Given the description of an element on the screen output the (x, y) to click on. 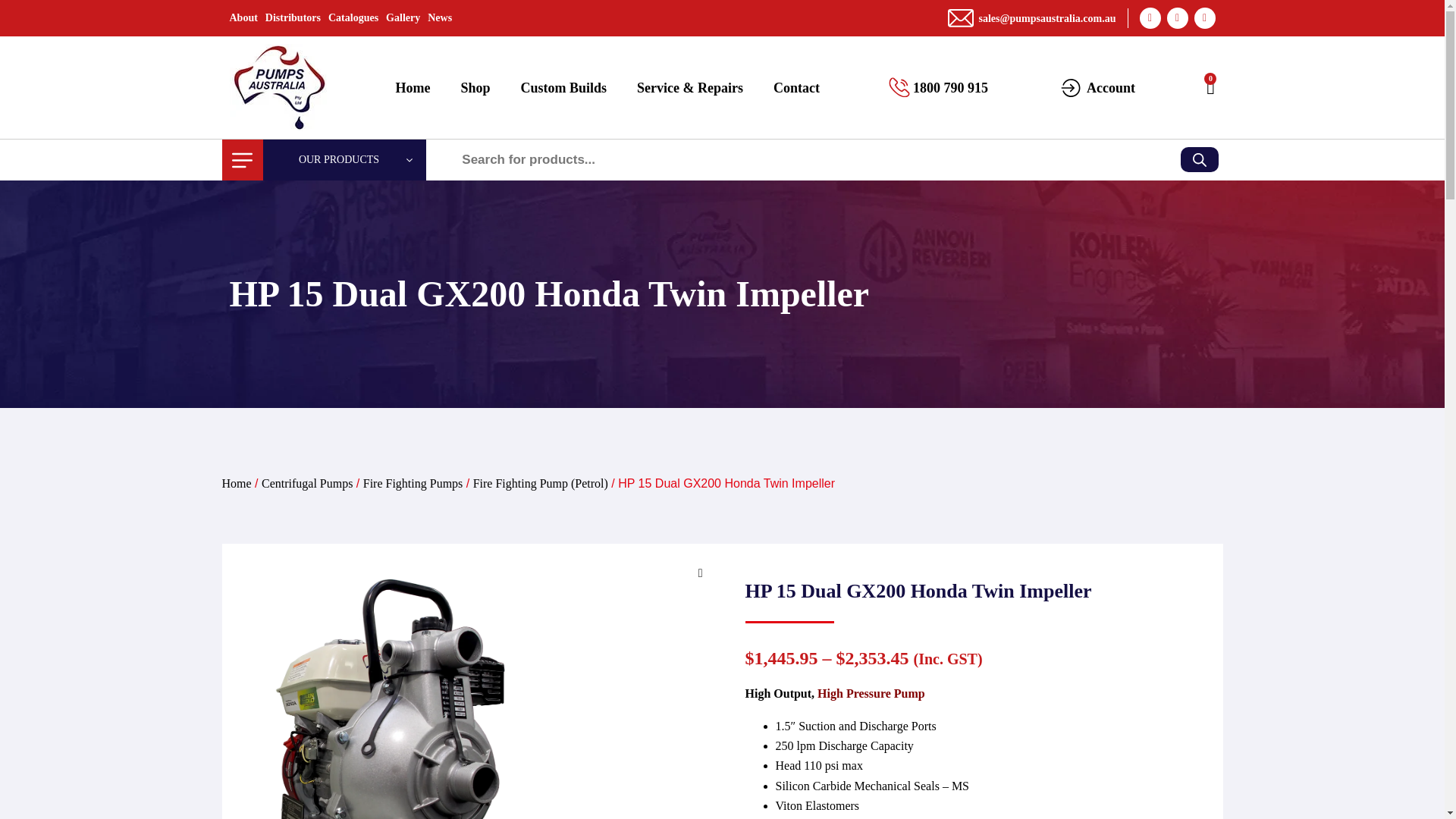
Shop (475, 86)
Gallery (402, 18)
News (439, 18)
1800 790 915 (950, 87)
Distributors (292, 18)
Home (412, 86)
HP 15 Dual GX200 Honda Twin Impeller 1 (399, 685)
Contact (796, 86)
About (242, 18)
Catalogues (353, 18)
Custom Builds (564, 86)
Account (1110, 87)
